Given the description of an element on the screen output the (x, y) to click on. 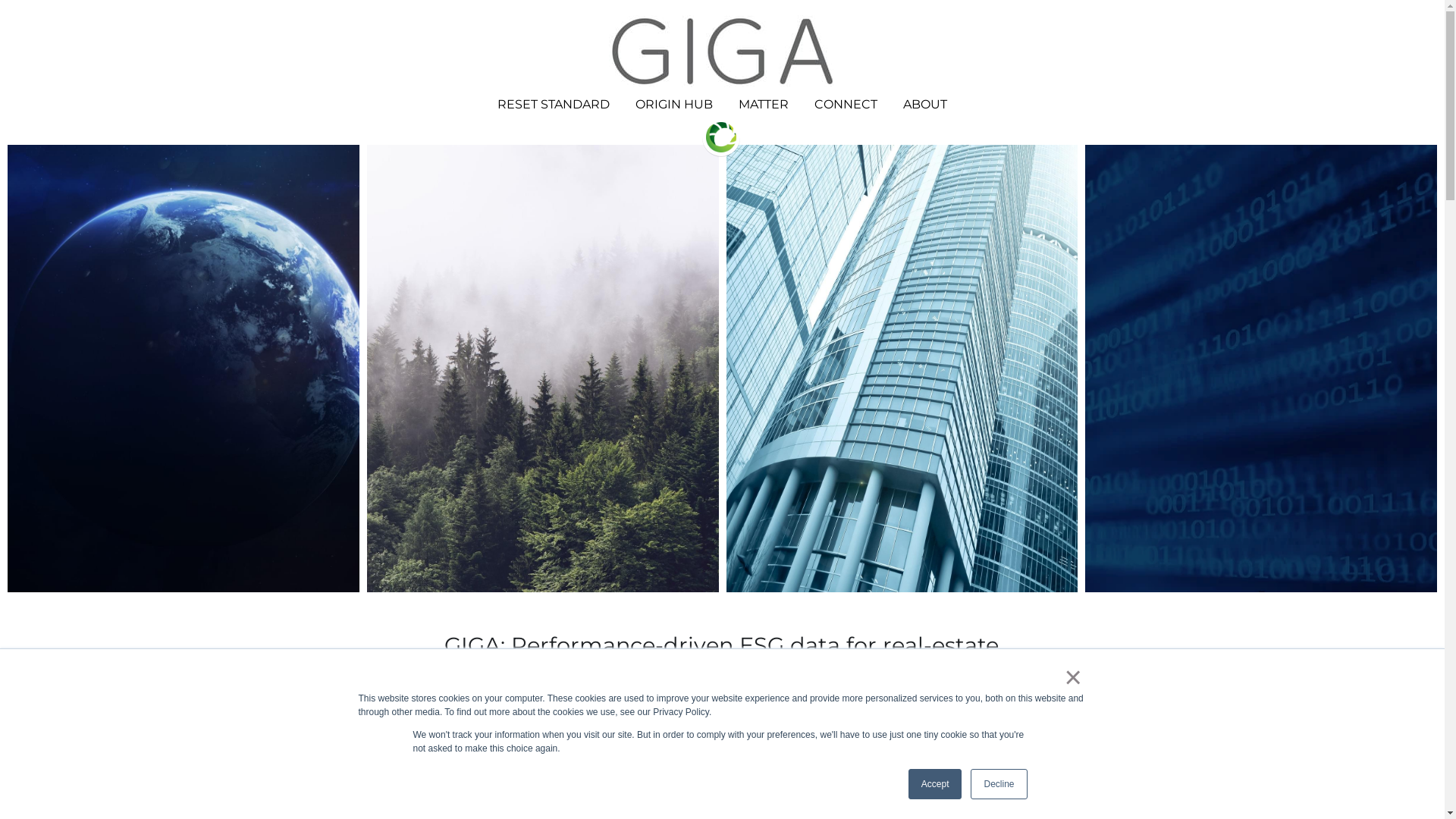
ORIGIN HUB Element type: text (673, 104)
RESET STANDARD Element type: text (553, 104)
CONNECT Element type: text (845, 104)
MATTER Element type: text (763, 104)
ABOUT Element type: text (925, 104)
